Given the description of an element on the screen output the (x, y) to click on. 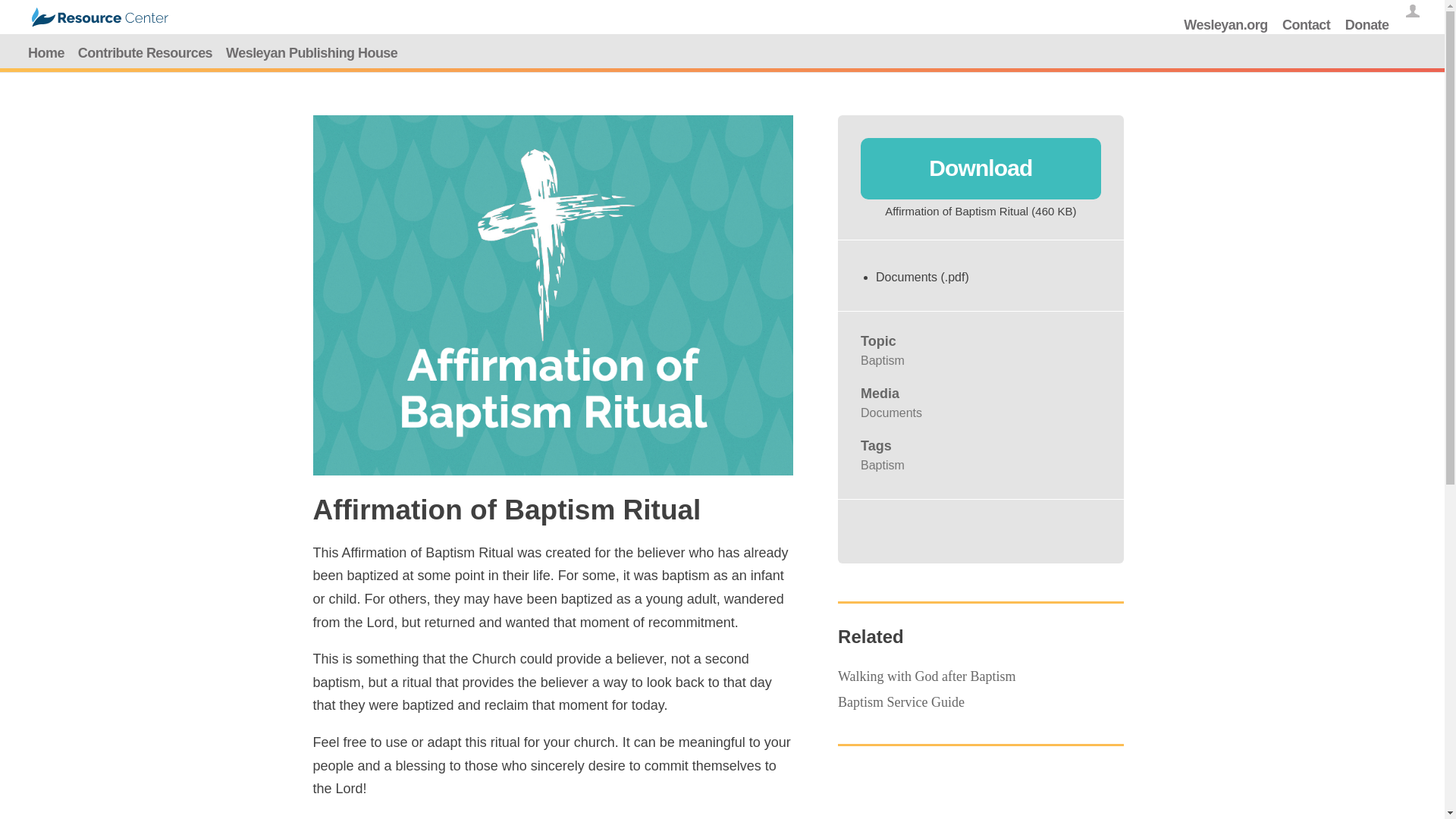
Contact (1306, 24)
Baptism (882, 359)
Home (46, 53)
Documents (890, 412)
Baptism Service Guide (900, 702)
Wesleyan.org (1224, 24)
Contribute Resources (144, 53)
Wesleyan Publishing House (312, 53)
Donate (1367, 24)
Walking with God after Baptism (927, 676)
